Given the description of an element on the screen output the (x, y) to click on. 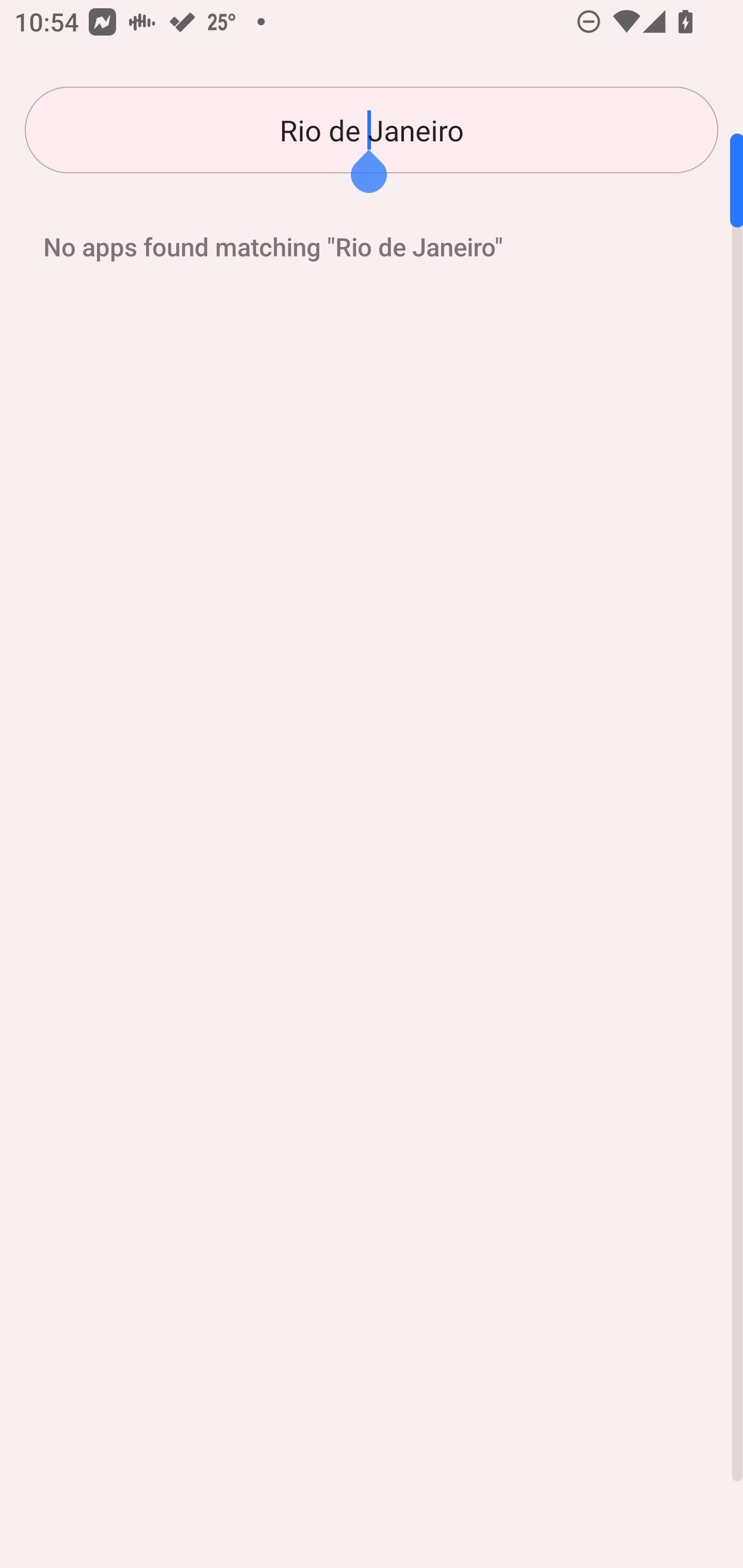
Rio de Janeiro (371, 130)
